Given the description of an element on the screen output the (x, y) to click on. 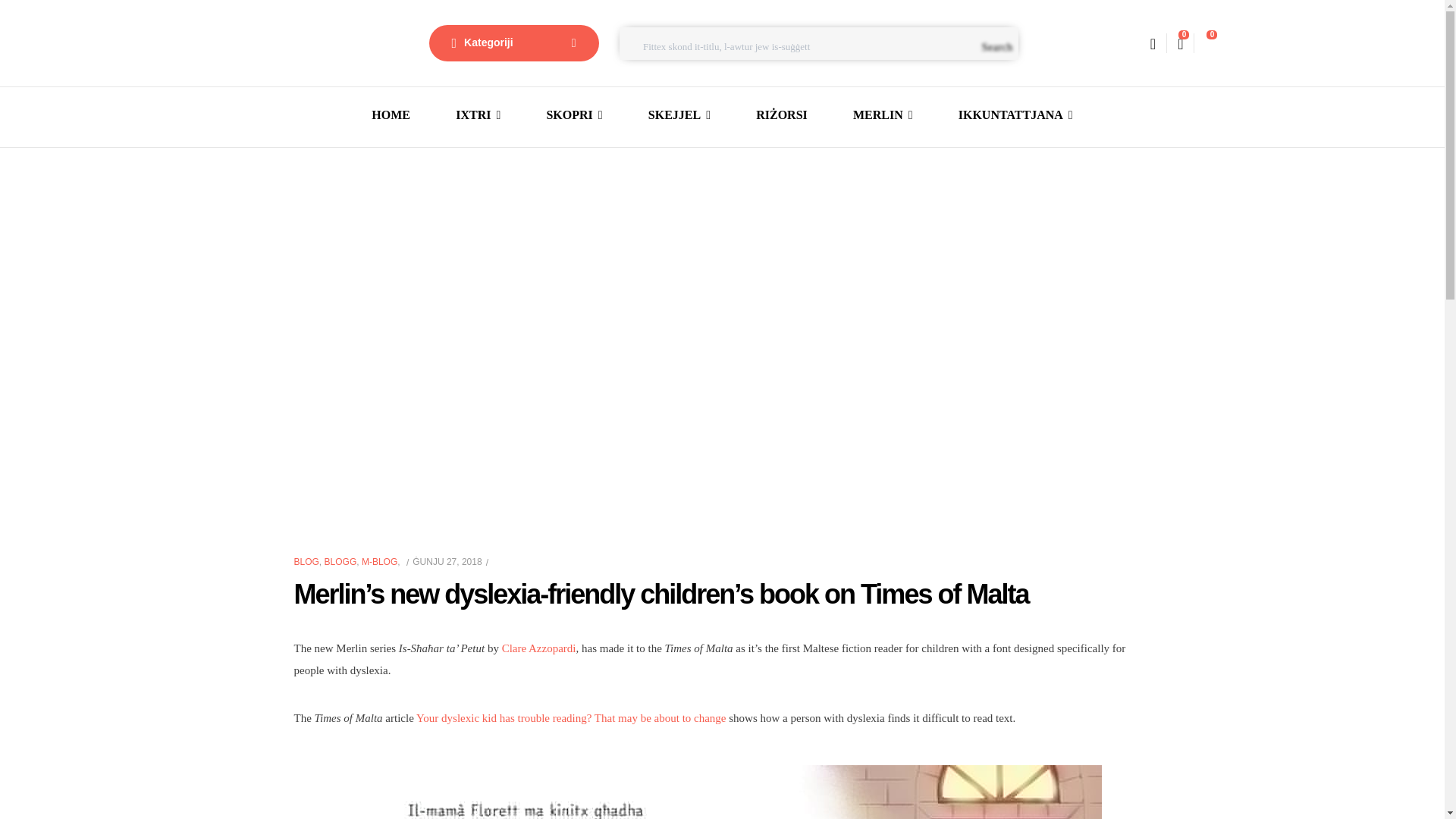
petut HI RES spread 22 (721, 791)
HOME (390, 114)
IXTRI (477, 114)
